Given the description of an element on the screen output the (x, y) to click on. 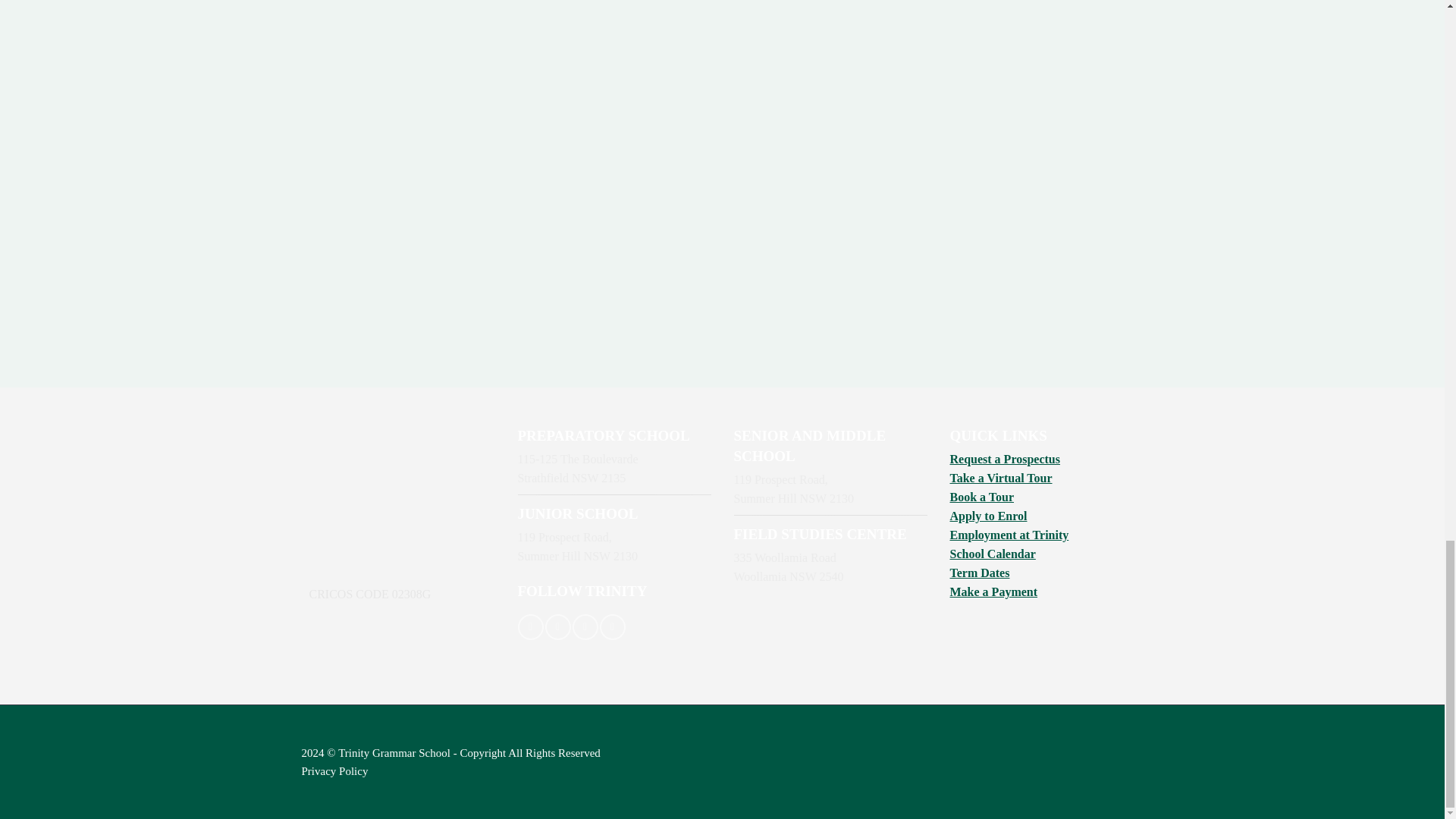
logo-light (365, 501)
trinity-language-italian (1108, 758)
trinity-language-chinese (1133, 759)
